Given the description of an element on the screen output the (x, y) to click on. 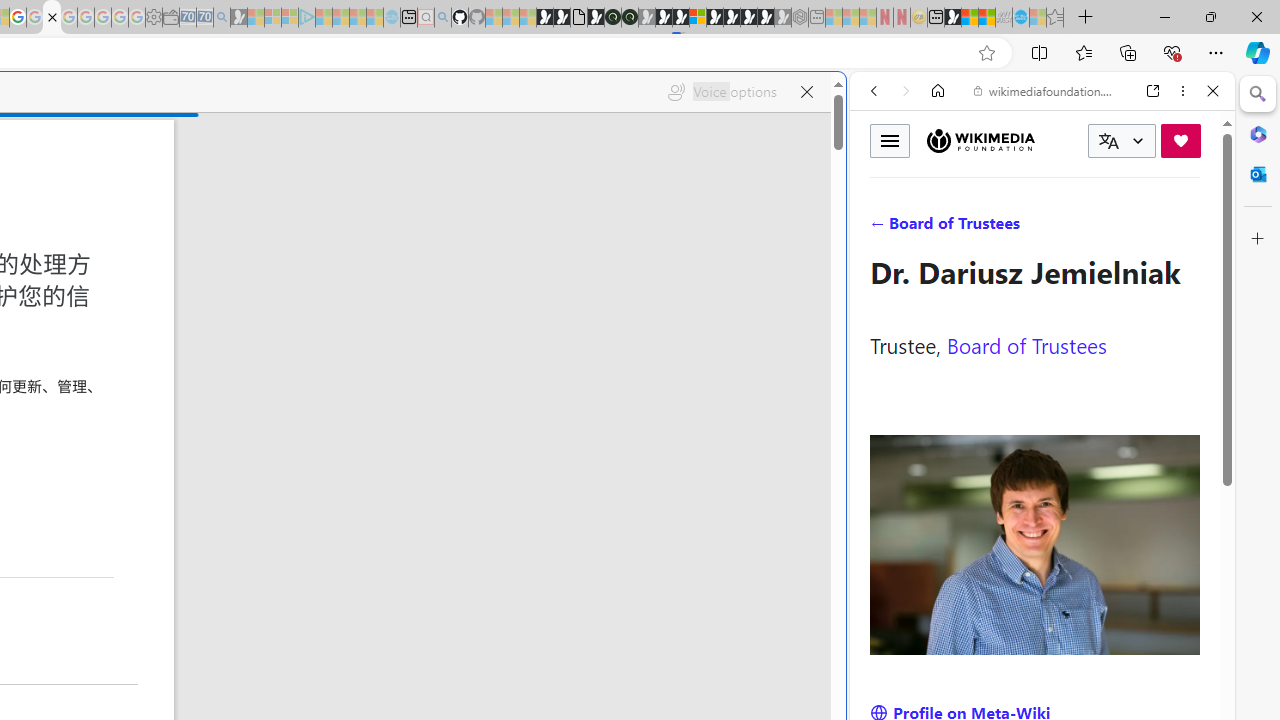
SEARCH TOOLS (1093, 228)
Close split screen (844, 102)
Close read aloud (805, 92)
Wiktionary (1034, 669)
